Given the description of an element on the screen output the (x, y) to click on. 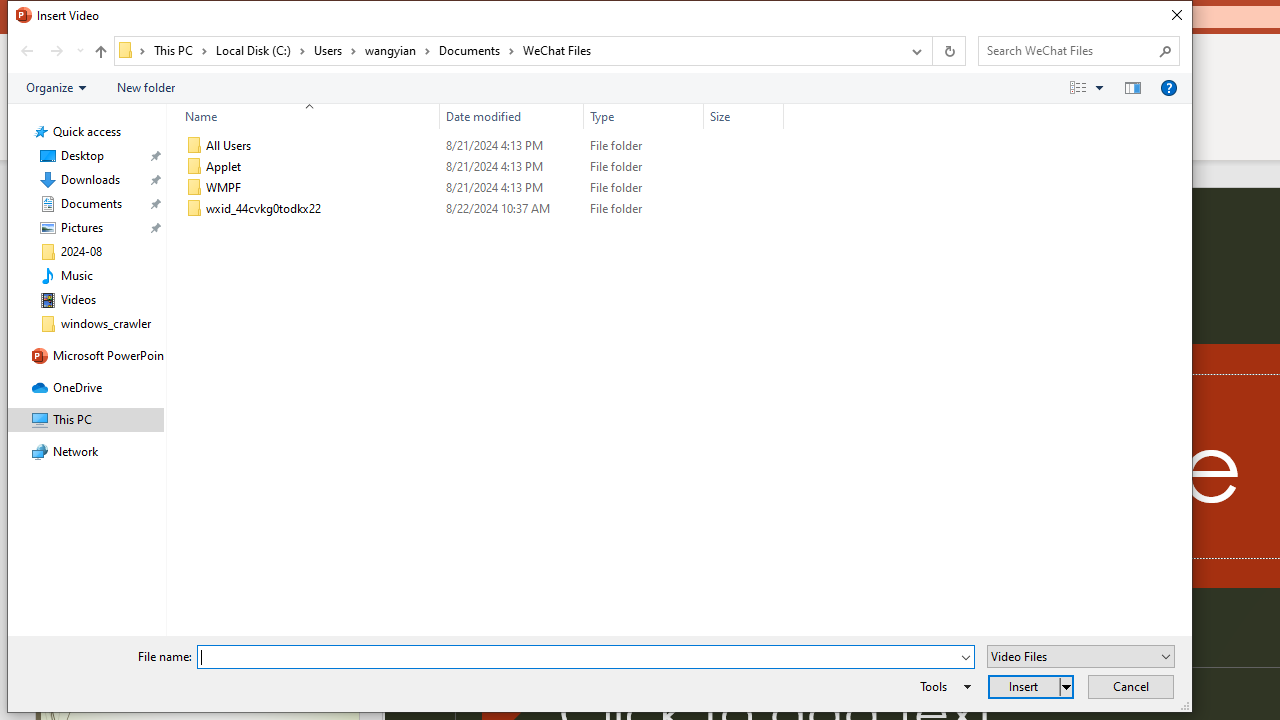
Size (743, 115)
Tools (942, 686)
Date modified (511, 115)
All Users (480, 145)
File name: (577, 657)
Previous Locations (914, 51)
